Given the description of an element on the screen output the (x, y) to click on. 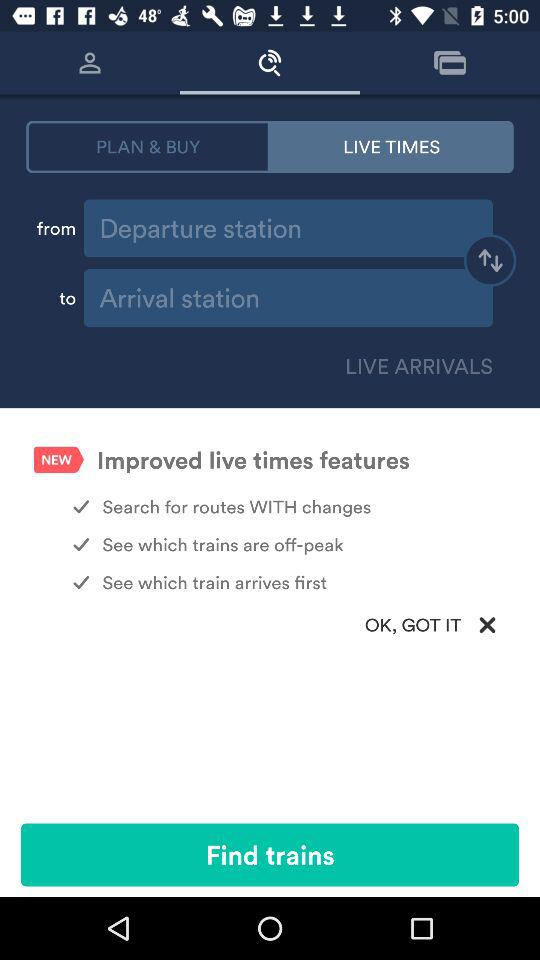
choose item to the left of the live times icon (148, 146)
